Given the description of an element on the screen output the (x, y) to click on. 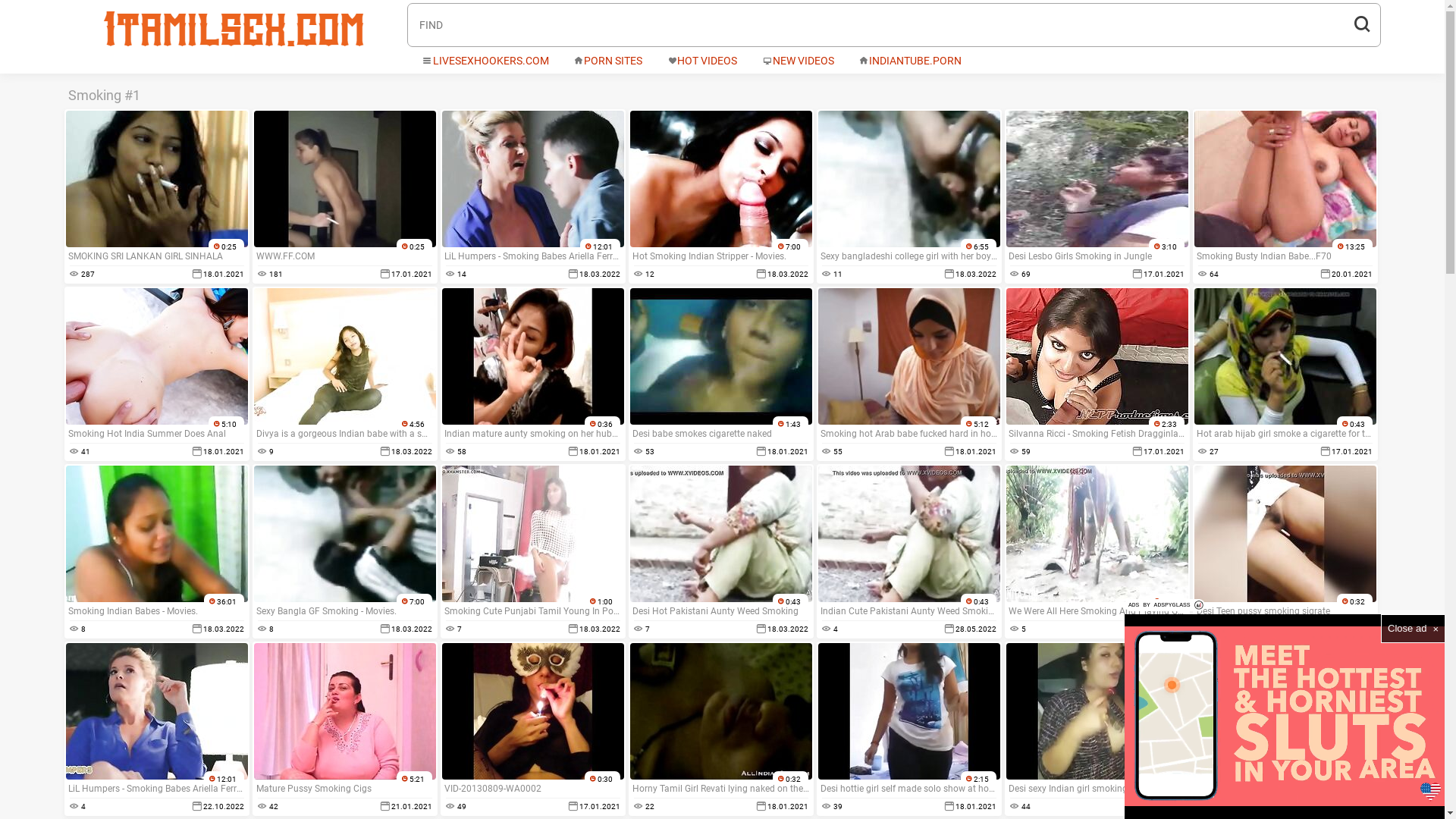
1:43
Desi babe smokes cigarette naked
53
18.01.2021 Element type: text (720, 373)
HOT VIDEOS Element type: text (701, 61)
13:25
Smoking Busty Indian Babe...F70
64
20.01.2021 Element type: text (1284, 196)
22:03
INDIAN BIG BOOBD
63
17.01.2021 Element type: text (1284, 728)
7:00
Hot Smoking Indian Stripper - Movies.
12
18.03.2022 Element type: text (720, 196)
ADS BY ADSPYGLASS Element type: text (1164, 605)
7:00
Sexy Bangla GF Smoking - Movies.
8
18.03.2022 Element type: text (344, 551)
PORN SITES Element type: text (608, 61)
0:25
SMOKING SRI LANKAN GIRL SINHALA
287
18.01.2021 Element type: text (156, 196)
0:32
Desi Teen pussy smoking sigrate
6
24.04.2022 Element type: text (1284, 551)
0:43
Desi Hot Pakistani Aunty Weed Smoking
7
18.03.2022 Element type: text (720, 551)
NEW VIDEOS Element type: text (798, 61)
0:30
VID-20130809-WA0002
49
17.01.2021 Element type: text (532, 728)
INDIANTUBE.PORN Element type: text (910, 61)
0:25
WWW.FF.COM
181
17.01.2021 Element type: text (344, 196)
36:01
Smoking Indian Babes - Movies.
8
18.03.2022 Element type: text (156, 551)
LIVESEXHOOKERS.COM Element type: text (484, 61)
5:21
Mature Pussy Smoking Cigs
42
21.01.2021 Element type: text (344, 728)
5:10
Smoking Hot India Summer Does Anal
41
18.01.2021 Element type: text (156, 373)
3:10
Desi Lesbo Girls Smoking in Jungle
69
17.01.2021 Element type: text (1096, 196)
0:43
Indian Cute Pakistani Aunty Weed Smoking
4
28.05.2022 Element type: text (908, 551)
